Given the description of an element on the screen output the (x, y) to click on. 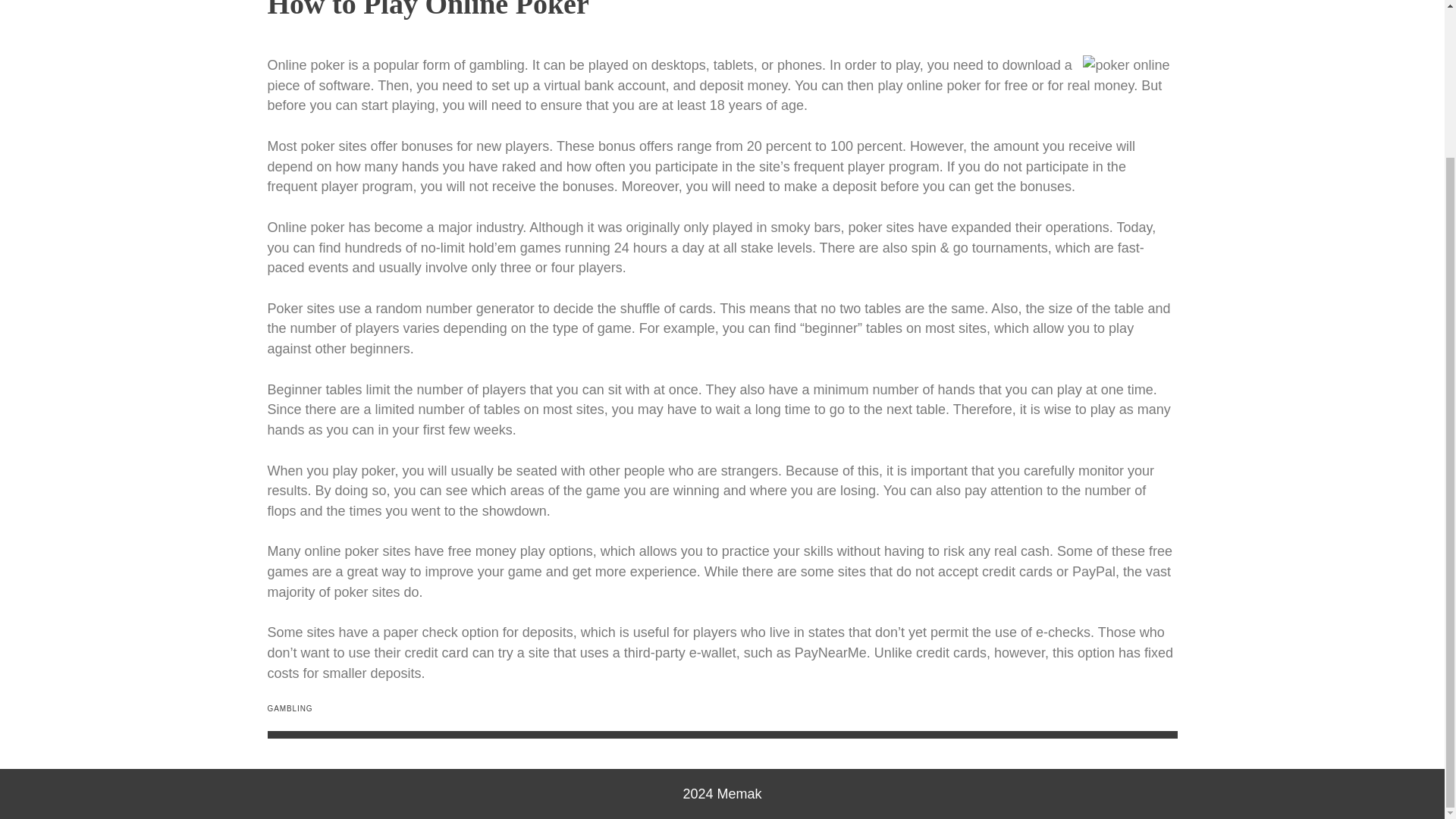
GAMBLING (289, 708)
